Given the description of an element on the screen output the (x, y) to click on. 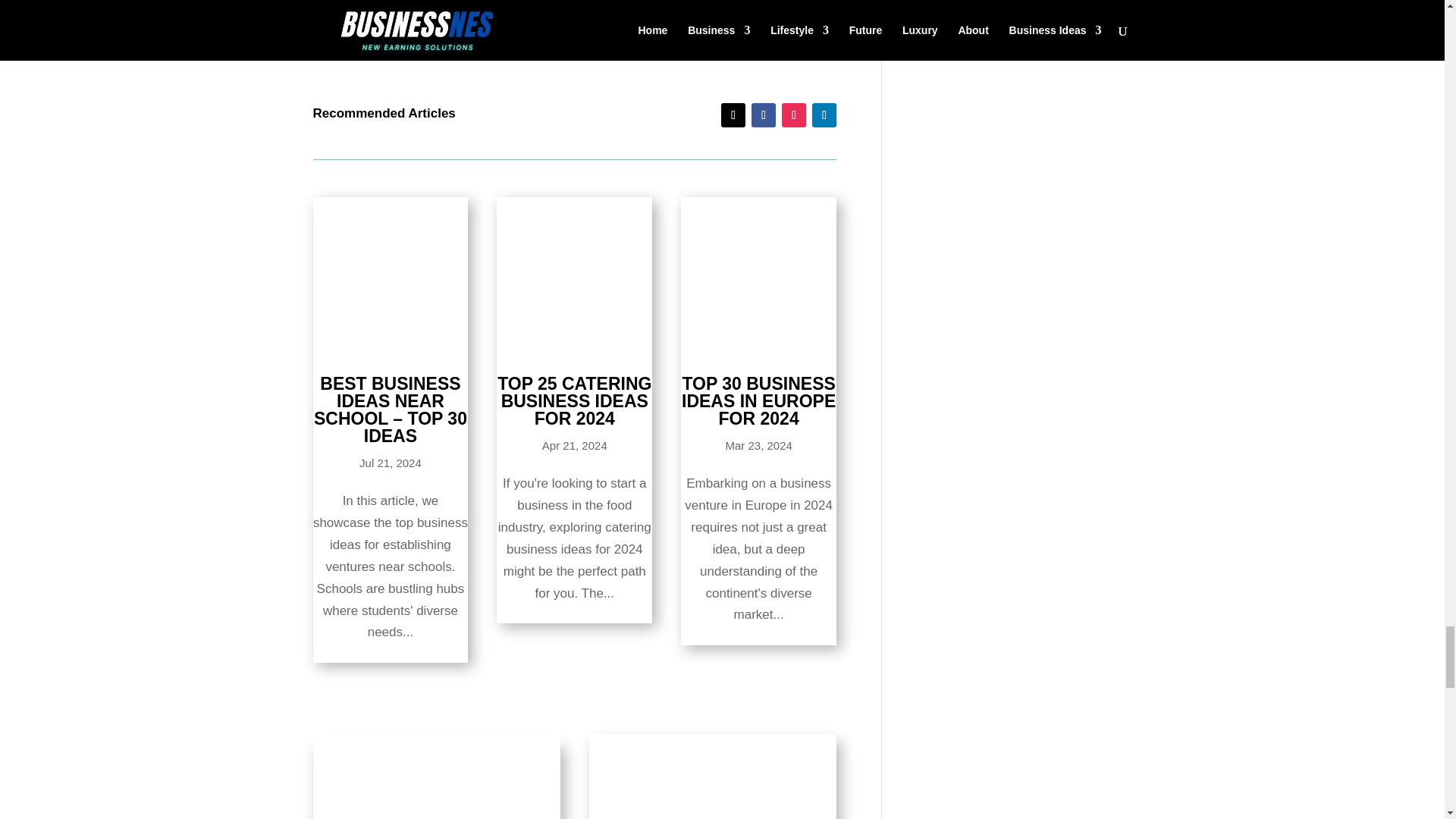
Follow on LinkedIn (823, 115)
Follow on Facebook (763, 115)
Follow on Instagram (793, 115)
Follow on X (732, 115)
